Given the description of an element on the screen output the (x, y) to click on. 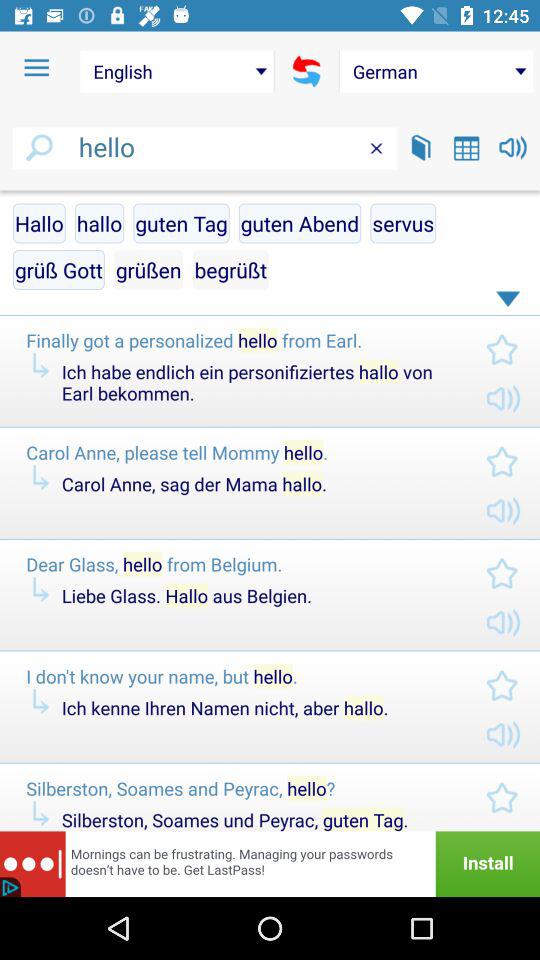
press finally got a (239, 340)
